Given the description of an element on the screen output the (x, y) to click on. 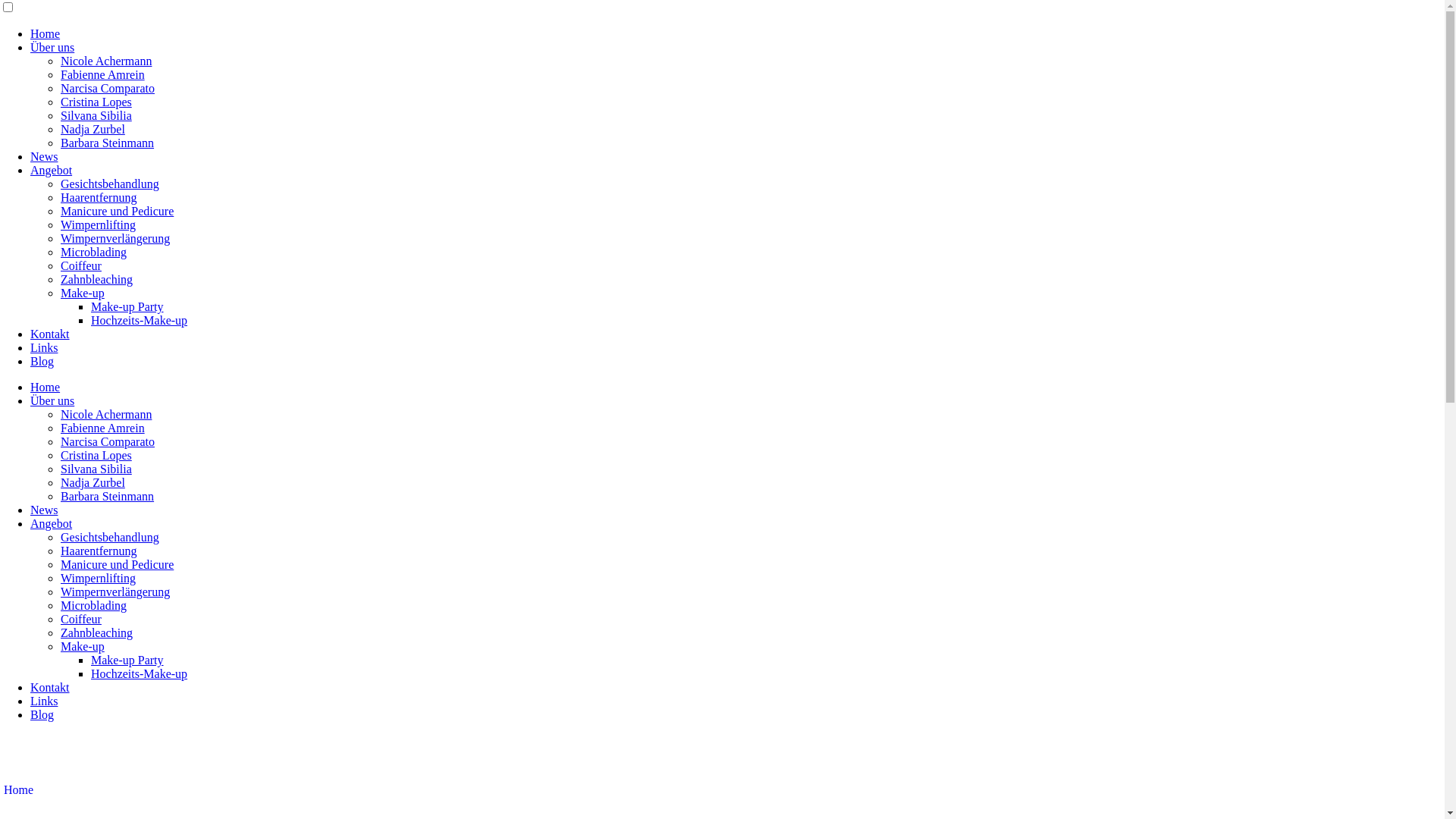
Silvana Sibilia Element type: text (95, 468)
Fabienne Amrein Element type: text (102, 427)
Zahnbleaching Element type: text (96, 279)
Silvana Sibilia Element type: text (95, 115)
Microblading Element type: text (93, 251)
Narcisa Comparato Element type: text (107, 87)
Links Element type: text (43, 347)
Home Element type: text (44, 33)
Nadja Zurbel Element type: text (92, 482)
Blog Element type: text (41, 360)
Cristina Lopes Element type: text (95, 454)
Home Element type: text (44, 386)
Barbara Steinmann Element type: text (106, 495)
Wimpernlifting Element type: text (97, 224)
Links Element type: text (43, 700)
Make-up Element type: text (82, 292)
Barbara Steinmann Element type: text (106, 142)
Angebot Element type: text (51, 169)
Hochzeits-Make-up Element type: text (139, 319)
Haarentfernung Element type: text (98, 197)
Kontakt Element type: text (49, 333)
Microblading Element type: text (93, 605)
Make-up Party Element type: text (127, 659)
Coiffeur Element type: text (80, 265)
Make-up Party Element type: text (127, 306)
Home Element type: text (18, 789)
Hochzeits-Make-up Element type: text (139, 673)
Wimpernlifting Element type: text (97, 577)
Fabienne Amrein Element type: text (102, 74)
News Element type: text (43, 509)
Haarentfernung Element type: text (98, 550)
Nadja Zurbel Element type: text (92, 128)
Gesichtsbehandlung Element type: text (109, 536)
News Element type: text (43, 156)
Make-up Element type: text (82, 646)
Gesichtsbehandlung Element type: text (109, 183)
Angebot Element type: text (51, 523)
Zahnbleaching Element type: text (96, 632)
Kontakt Element type: text (49, 686)
Nicole Achermann Element type: text (105, 60)
Nicole Achermann Element type: text (105, 413)
Coiffeur Element type: text (80, 618)
Manicure und Pedicure Element type: text (116, 210)
Blog Element type: text (41, 714)
Manicure und Pedicure Element type: text (116, 564)
Narcisa Comparato Element type: text (107, 441)
Cristina Lopes Element type: text (95, 101)
